Given the description of an element on the screen output the (x, y) to click on. 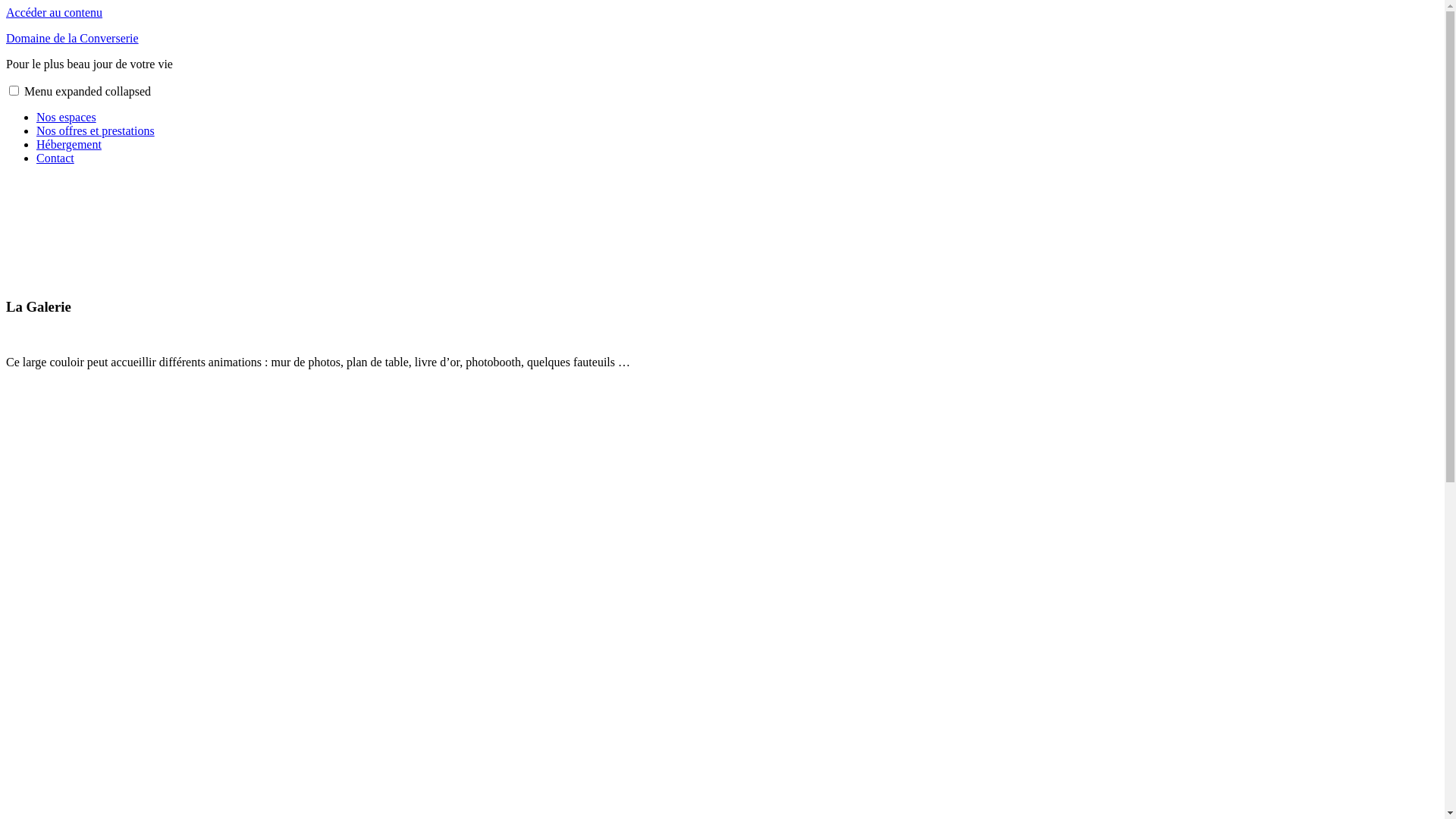
Nos espaces Element type: text (66, 116)
Contact Element type: text (55, 157)
Nos offres et prestations Element type: text (95, 130)
Domaine de la Converserie Element type: text (72, 37)
